Given the description of an element on the screen output the (x, y) to click on. 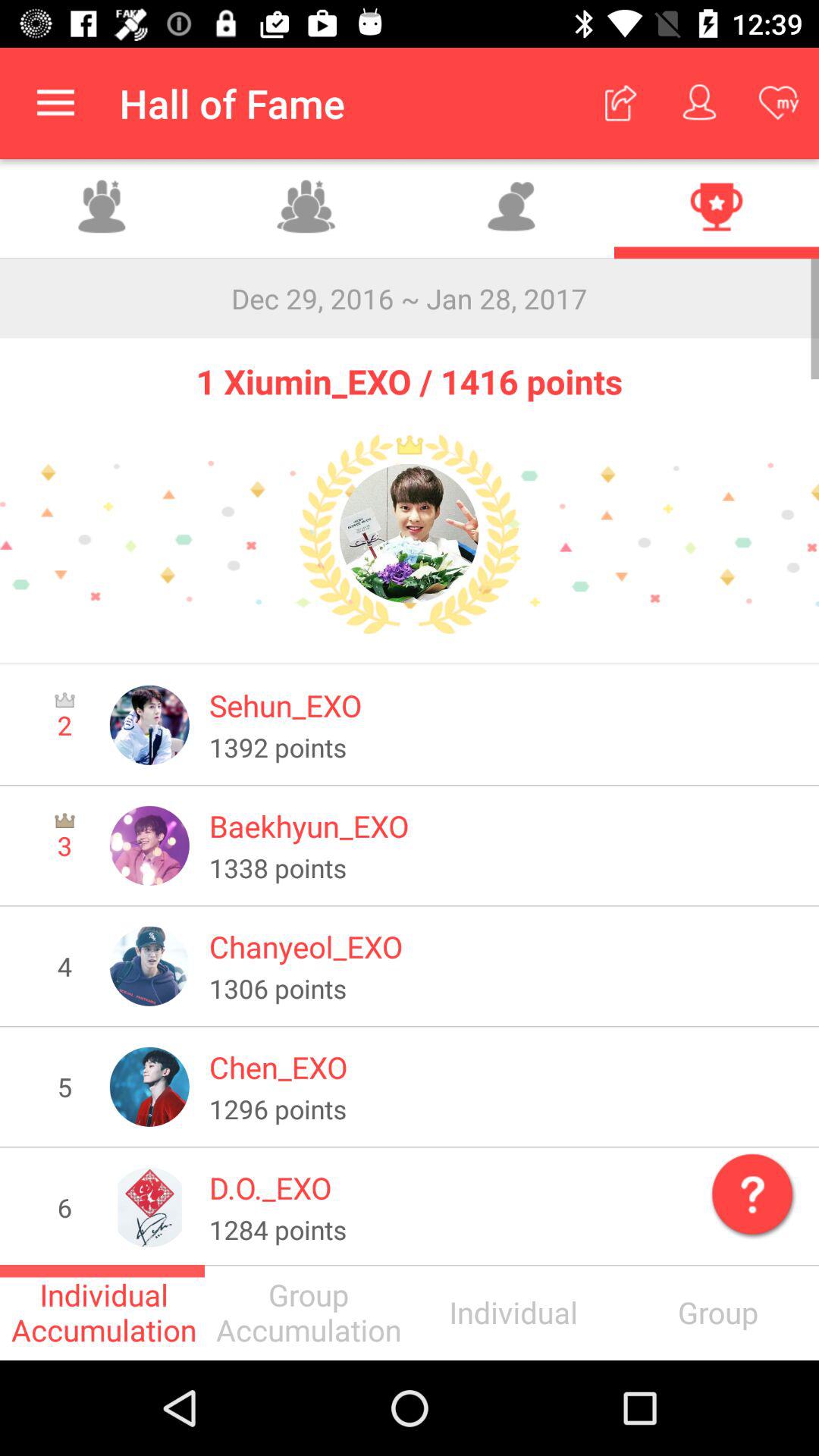
show hall of fame help (749, 1191)
